Given the description of an element on the screen output the (x, y) to click on. 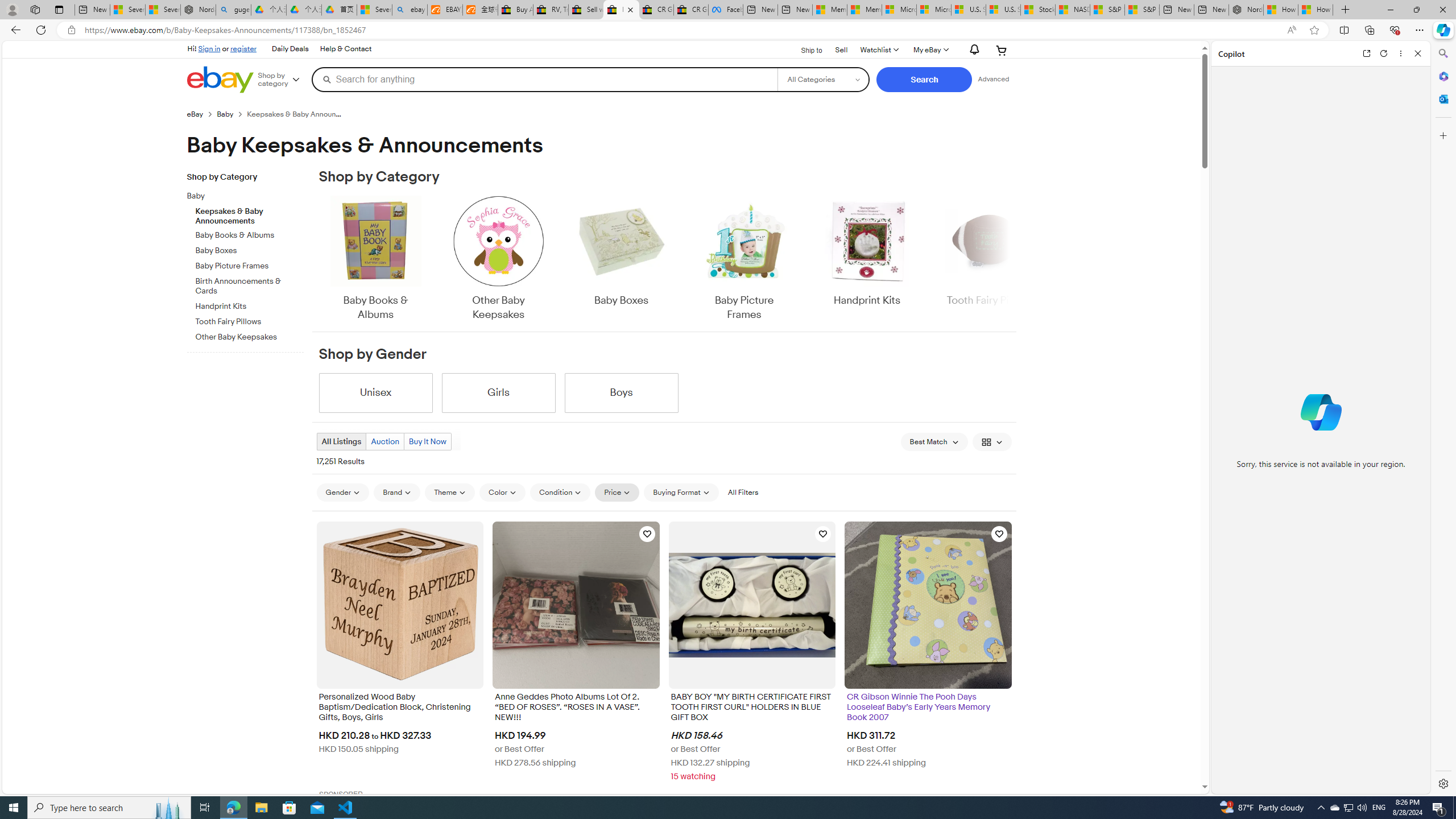
Daily Deals (289, 49)
Unisex (375, 392)
Baby Boxes (621, 251)
eBay (201, 113)
Color (502, 492)
eBay Home (219, 79)
Watchlist (878, 49)
Auction (384, 441)
Baby Picture Frames (743, 258)
Help & Contact (345, 49)
Sell (841, 49)
Outlook (1442, 98)
